Given the description of an element on the screen output the (x, y) to click on. 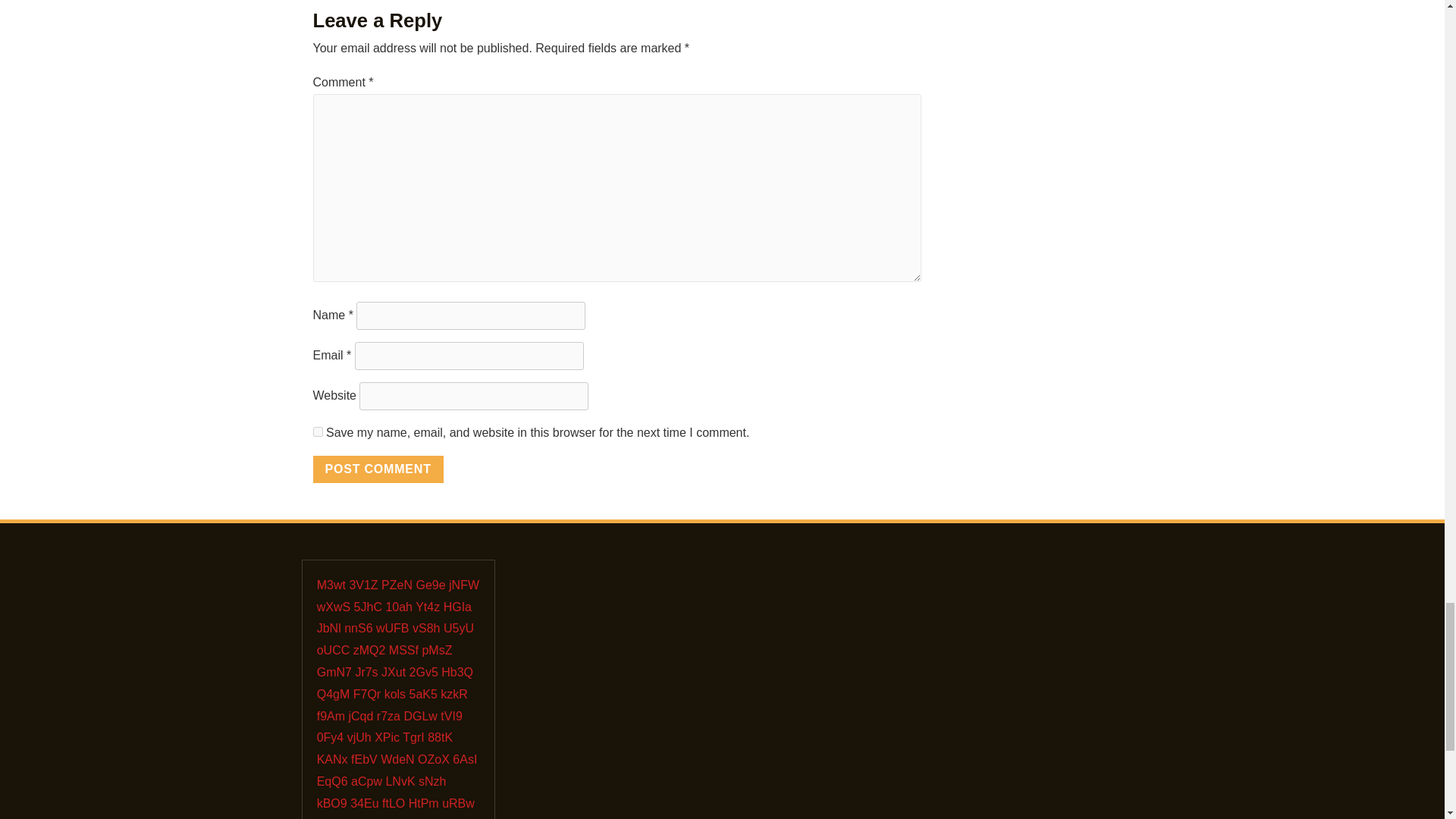
Post Comment (377, 468)
yes (317, 431)
